Given the description of an element on the screen output the (x, y) to click on. 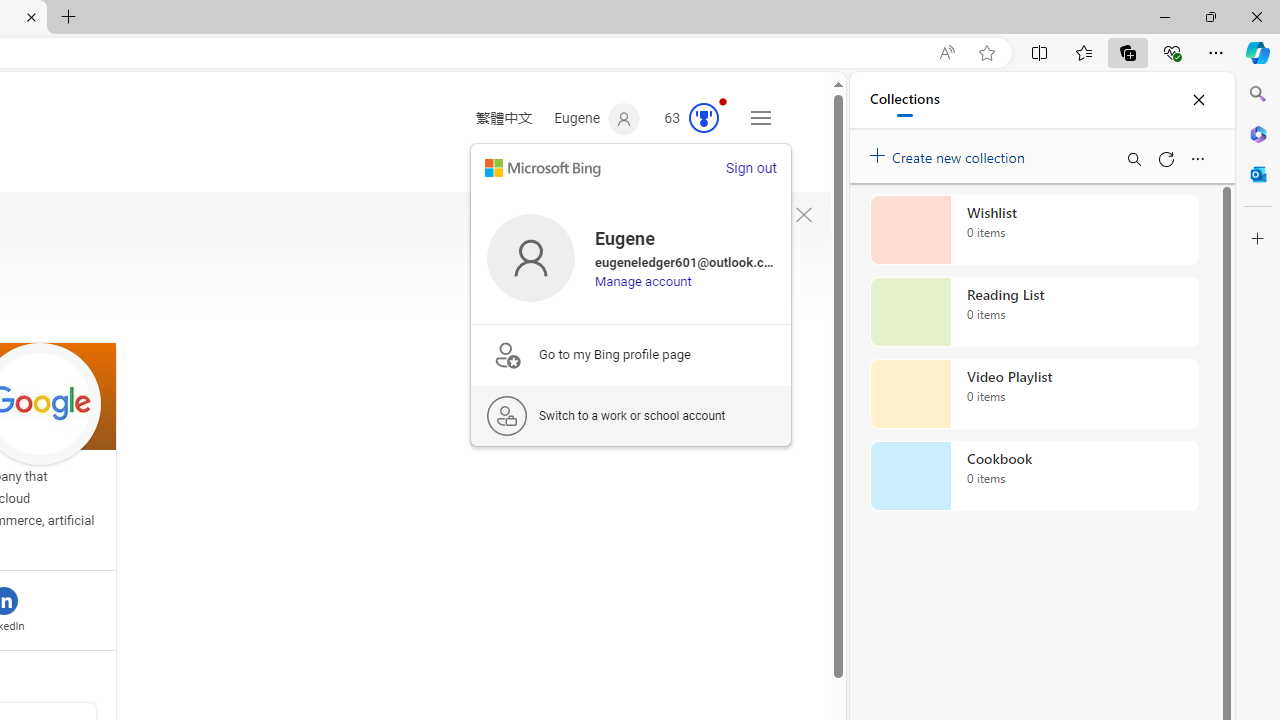
Bing Pages Upsell Logo (506, 354)
Sign out (750, 168)
work signin Switch to a work or school account (631, 415)
Wishlist collection, 0 items (1034, 229)
work signin (506, 416)
Microsoft Rewards 54 (685, 119)
Go to my Bing profile page (631, 354)
